Given the description of an element on the screen output the (x, y) to click on. 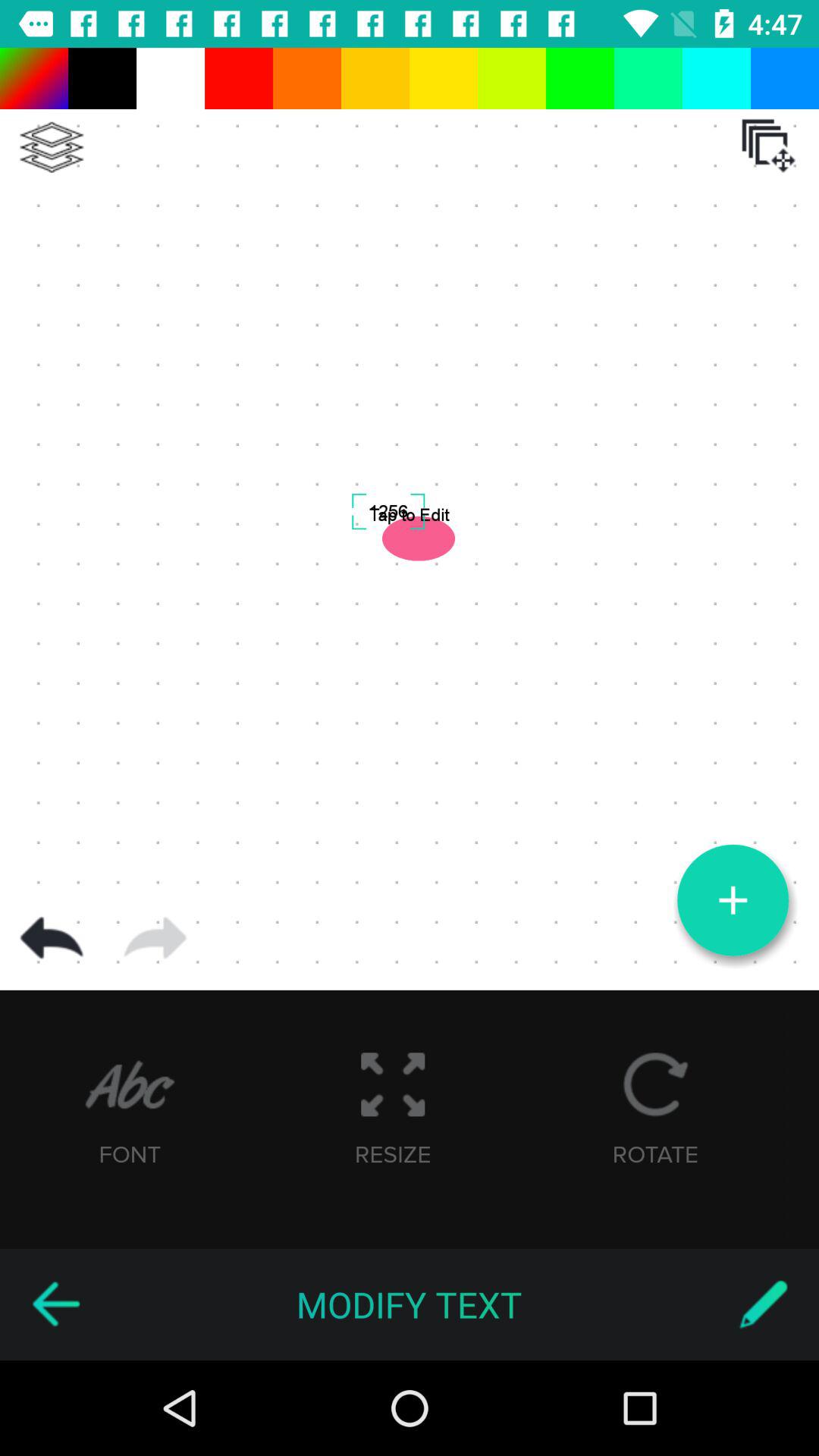
open the icon next to modify text (763, 1304)
